Given the description of an element on the screen output the (x, y) to click on. 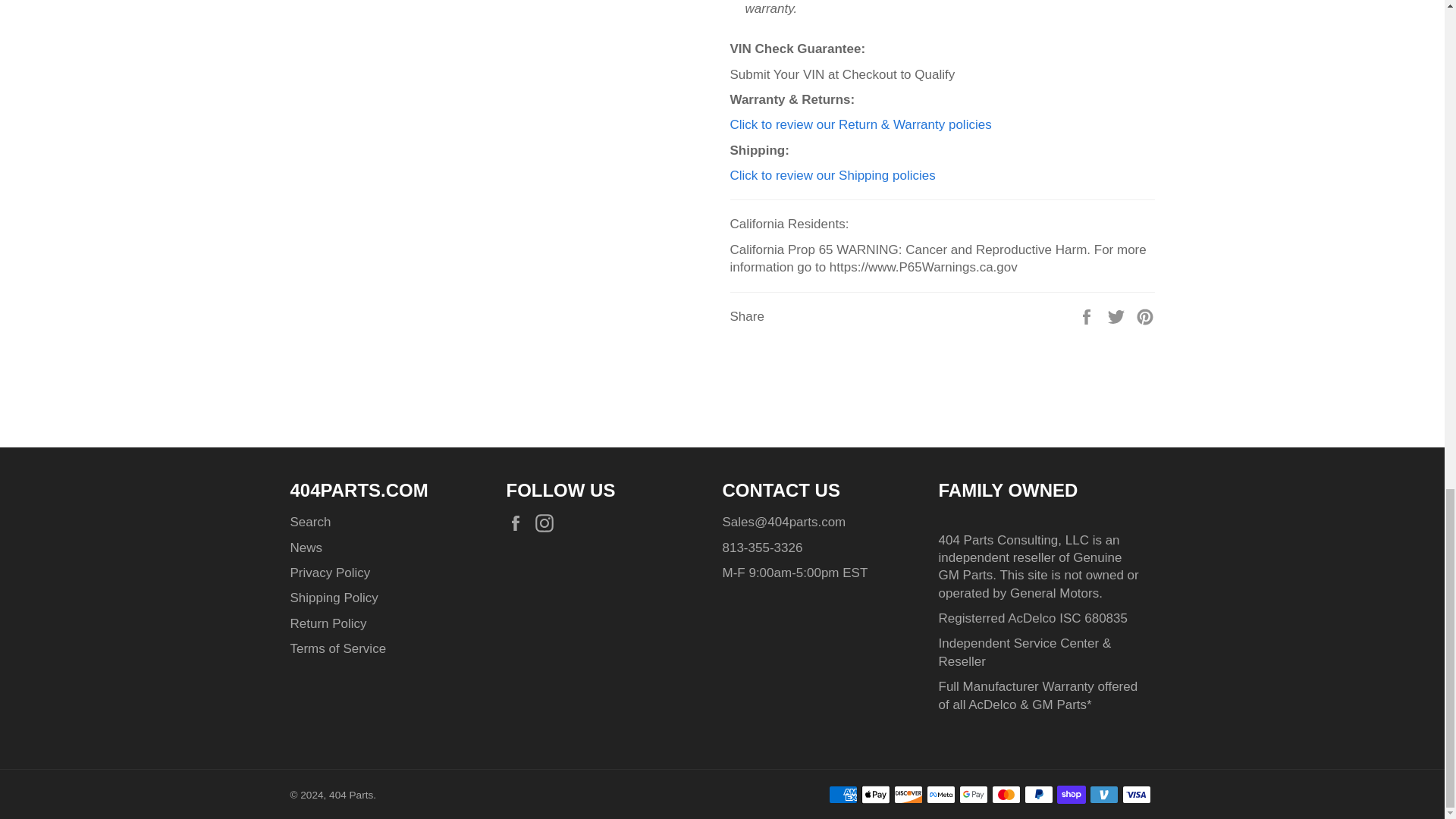
404 Parts on Instagram (547, 522)
Pin on Pinterest (1144, 316)
404 Parts on Facebook (519, 522)
Tweet on Twitter (1117, 316)
Share on Facebook (1088, 316)
